Given the description of an element on the screen output the (x, y) to click on. 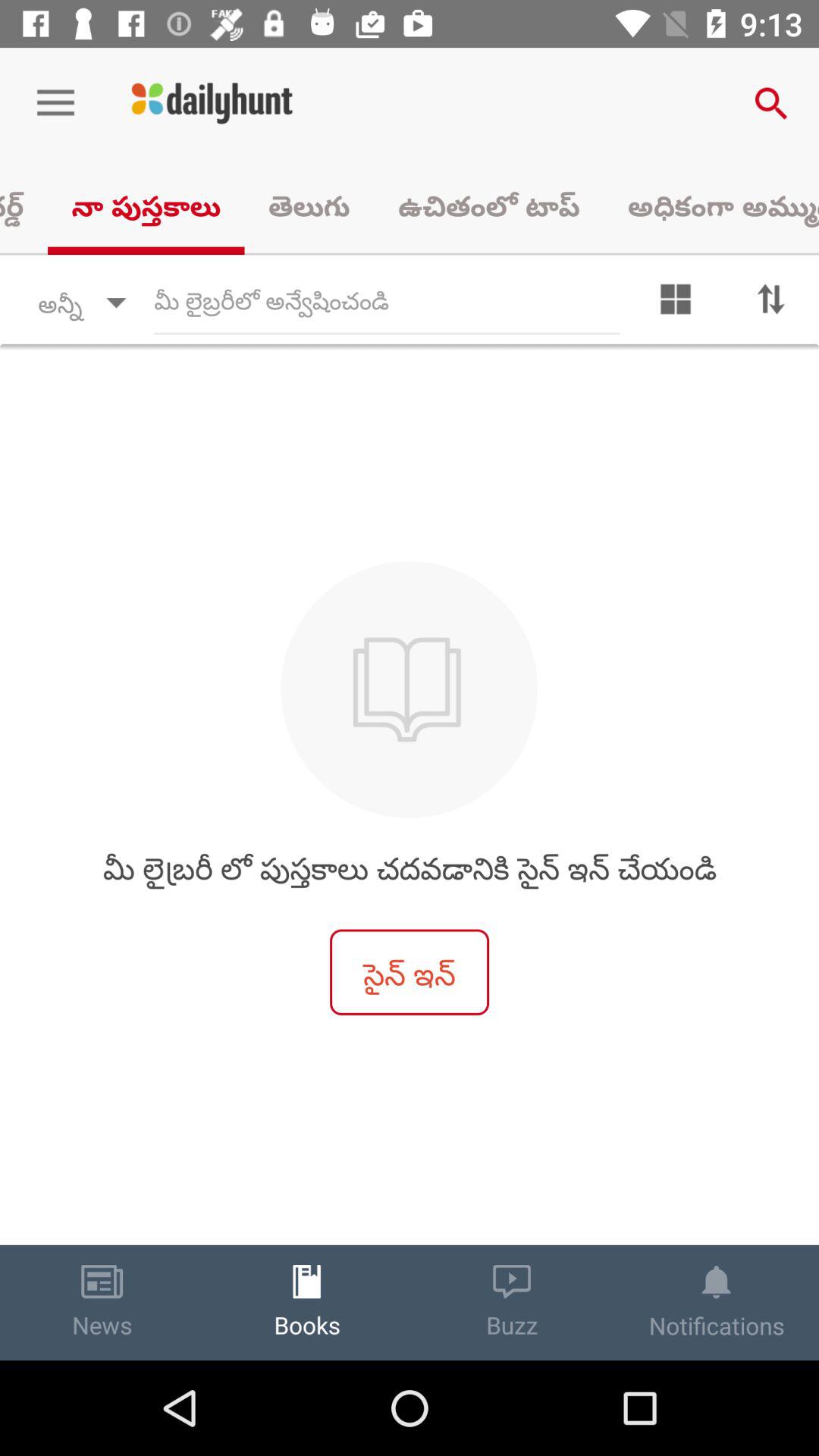
navigate up or down (771, 302)
